Given the description of an element on the screen output the (x, y) to click on. 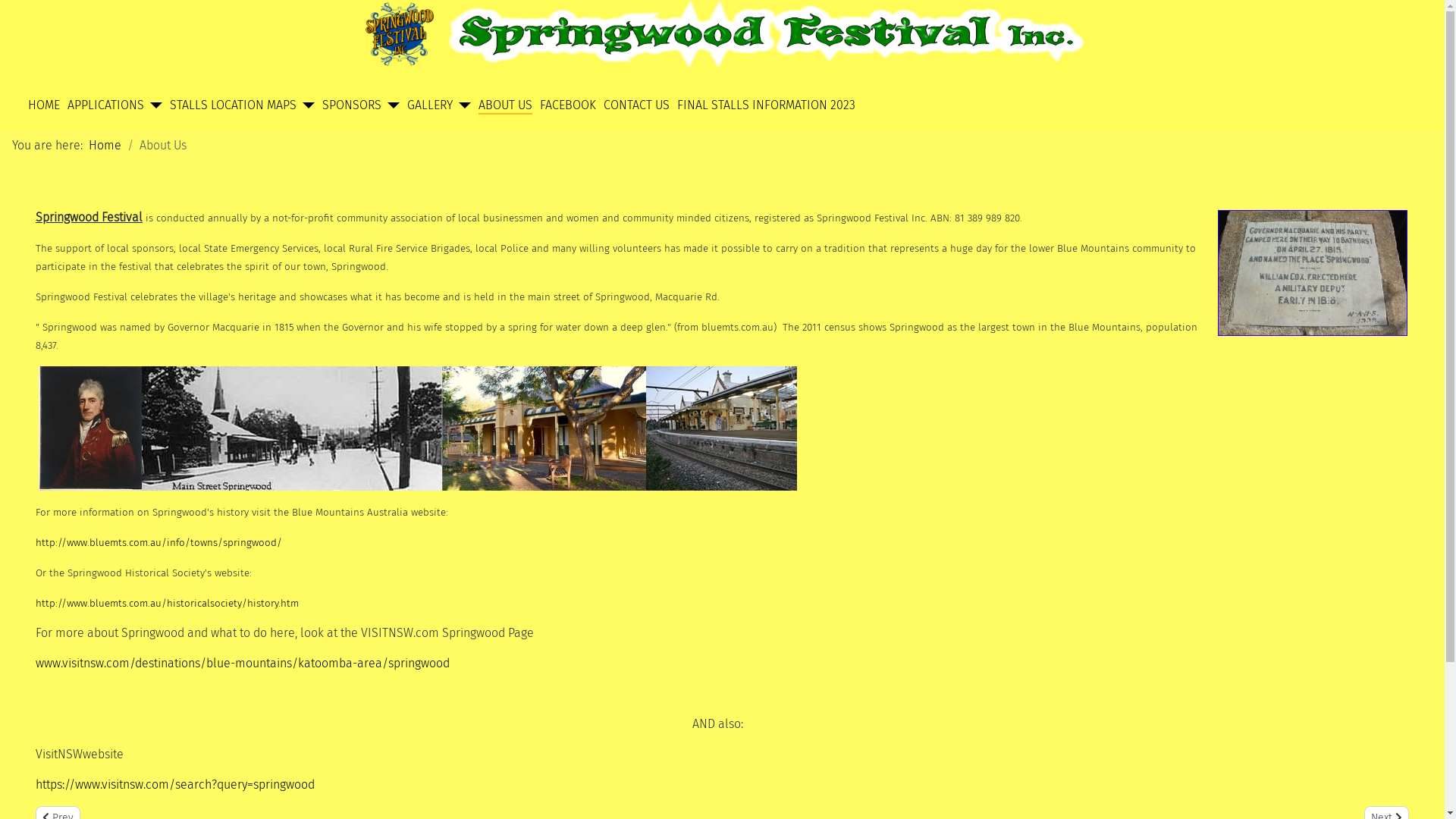
APPLICATIONS Element type: text (105, 105)
CONTACT US Element type: text (636, 105)
ABOUT US Element type: text (505, 105)
FINAL STALLS INFORMATION 2023 Element type: text (766, 105)
SPONSORS Element type: text (351, 105)
GALLERY Element type: text (429, 105)
STALLS LOCATION MAPS Element type: text (232, 105)
Home Element type: text (104, 145)
HOME Element type: text (43, 105)
FACEBOOK Element type: text (567, 105)
https://www.visitnsw.com/search?query=springwood Element type: text (174, 784)
http://www.bluemts.com.au/historicalsociety/history.htm Element type: text (166, 603)
http://www.bluemts.com.au/info/towns/springwood/ Element type: text (158, 541)
